Given the description of an element on the screen output the (x, y) to click on. 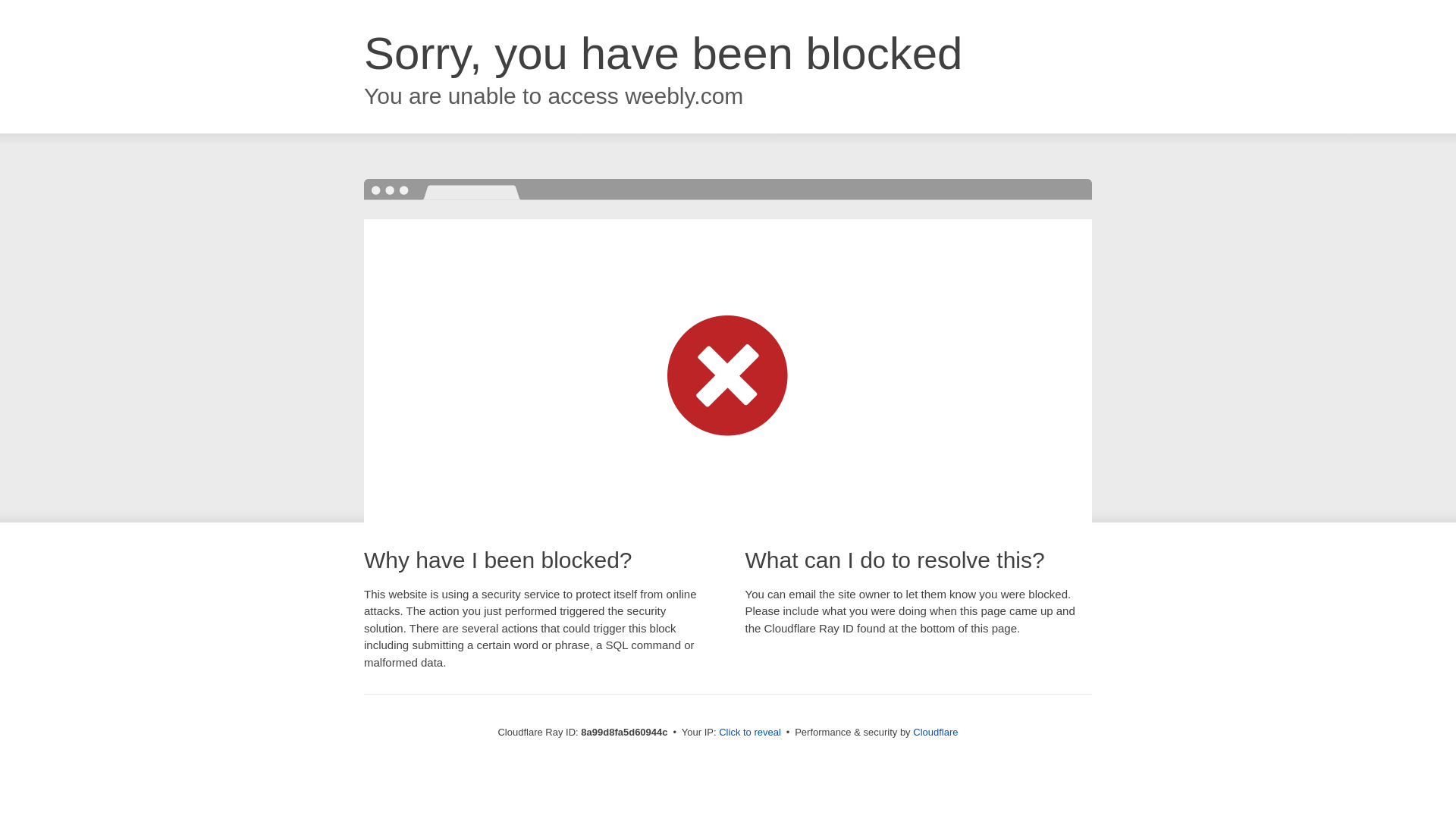
Cloudflare (935, 731)
Click to reveal (749, 732)
